Given the description of an element on the screen output the (x, y) to click on. 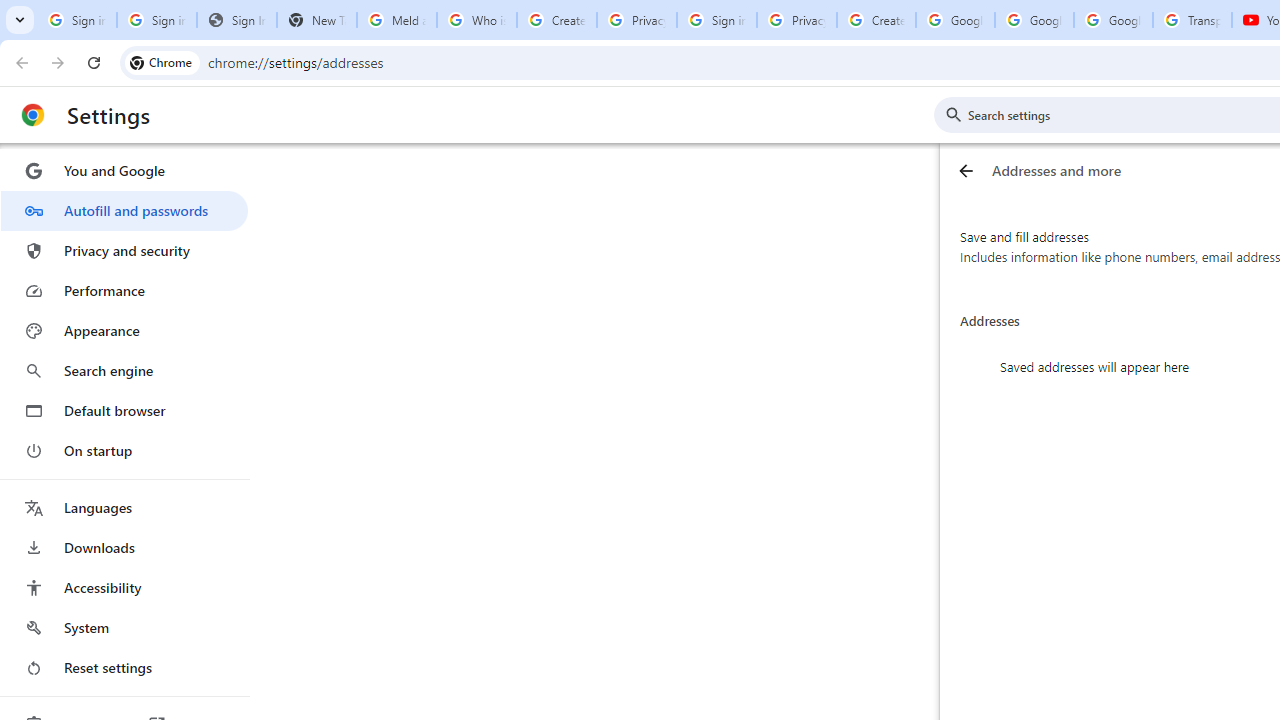
Performance (124, 290)
Sign in - Google Accounts (76, 20)
Languages (124, 507)
Create your Google Account (556, 20)
Default browser (124, 410)
Reset settings (124, 668)
You and Google (124, 170)
Sign in - Google Accounts (156, 20)
Accessibility (124, 587)
